Given the description of an element on the screen output the (x, y) to click on. 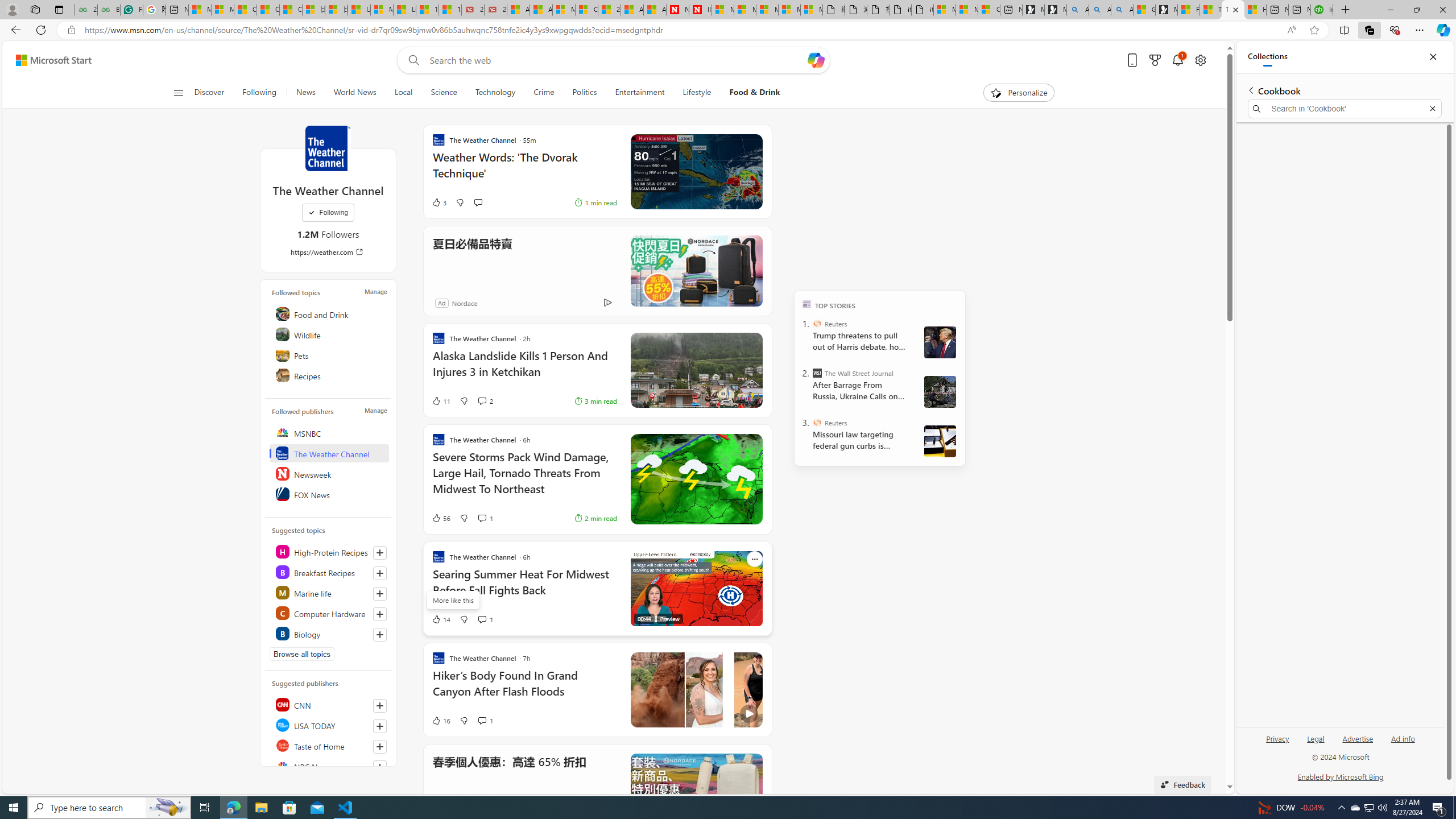
Browse all topics (301, 653)
